Given the description of an element on the screen output the (x, y) to click on. 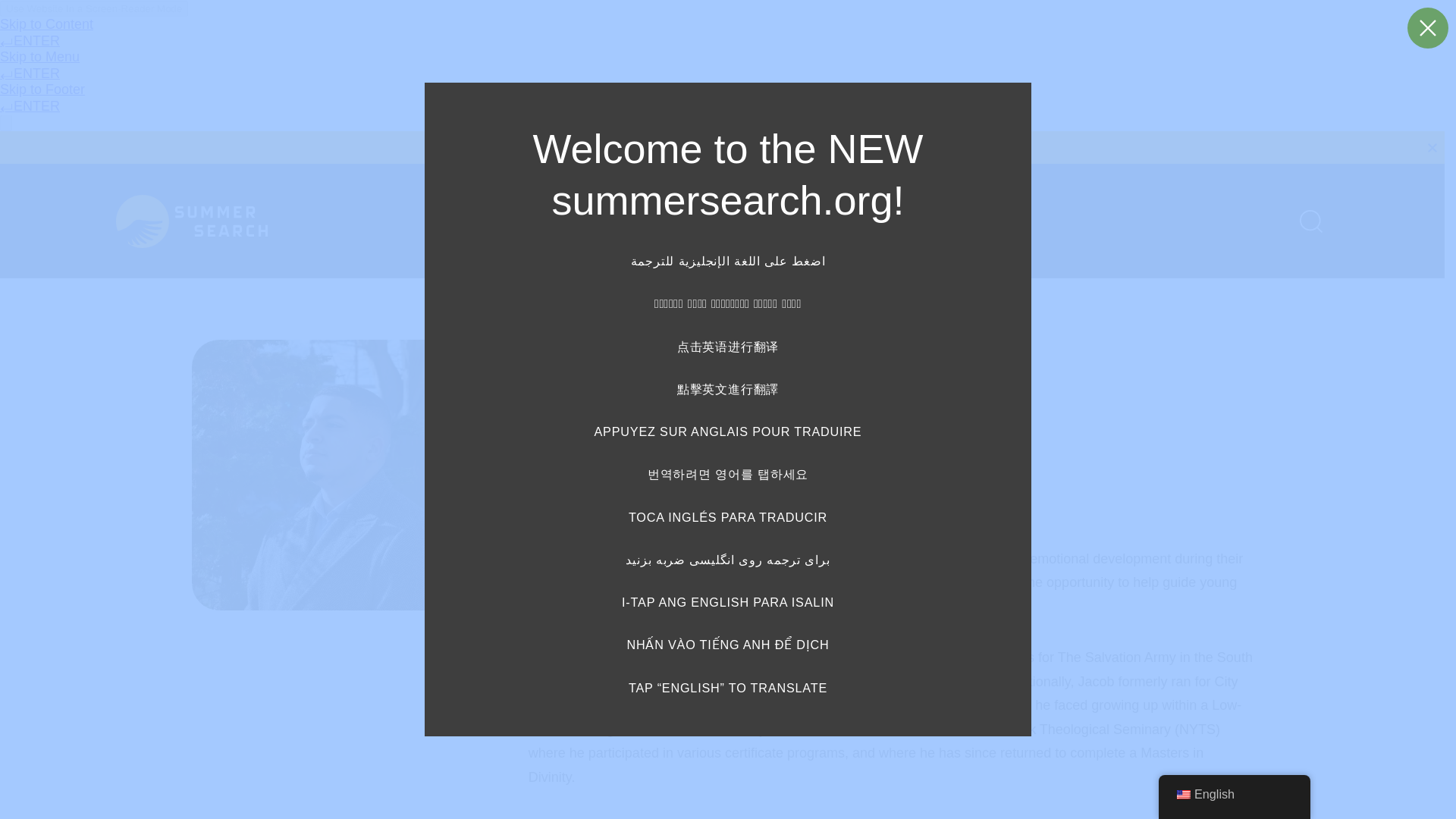
WHO WE ARE (480, 220)
COMMUNITIES (717, 220)
GET INVOLVED (847, 220)
WAYPOINTS (597, 220)
THE REMEX (967, 220)
